Given the description of an element on the screen output the (x, y) to click on. 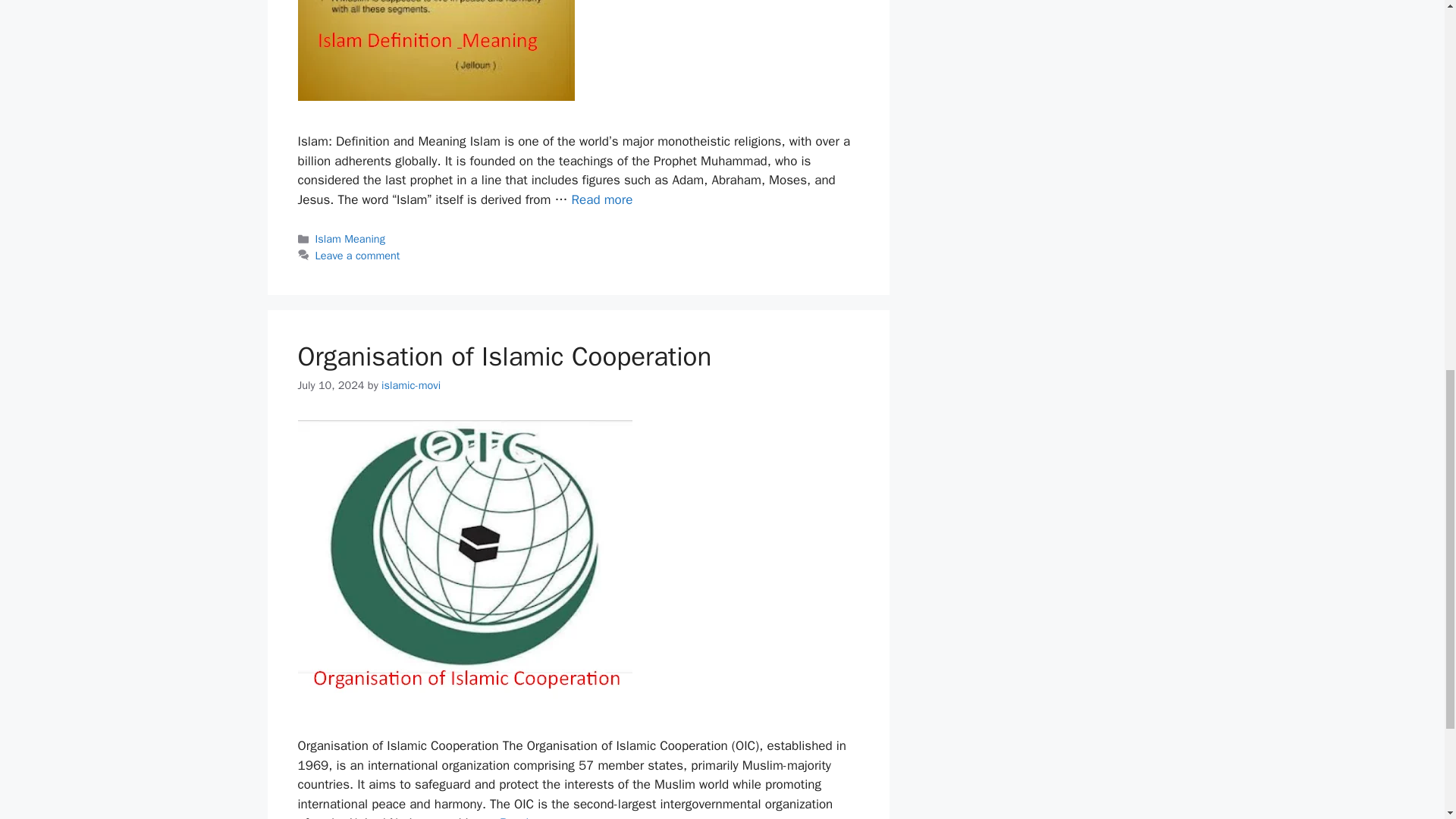
islamic-movi (411, 385)
Organisation of Islamic Cooperation (504, 356)
Read more (529, 816)
Read more (602, 199)
View all posts by islamic-movi (411, 385)
Leave a comment (357, 255)
Islam: Definition and Meaning (602, 199)
Islam Meaning (350, 238)
Organisation of Islamic Cooperation (529, 816)
